Given the description of an element on the screen output the (x, y) to click on. 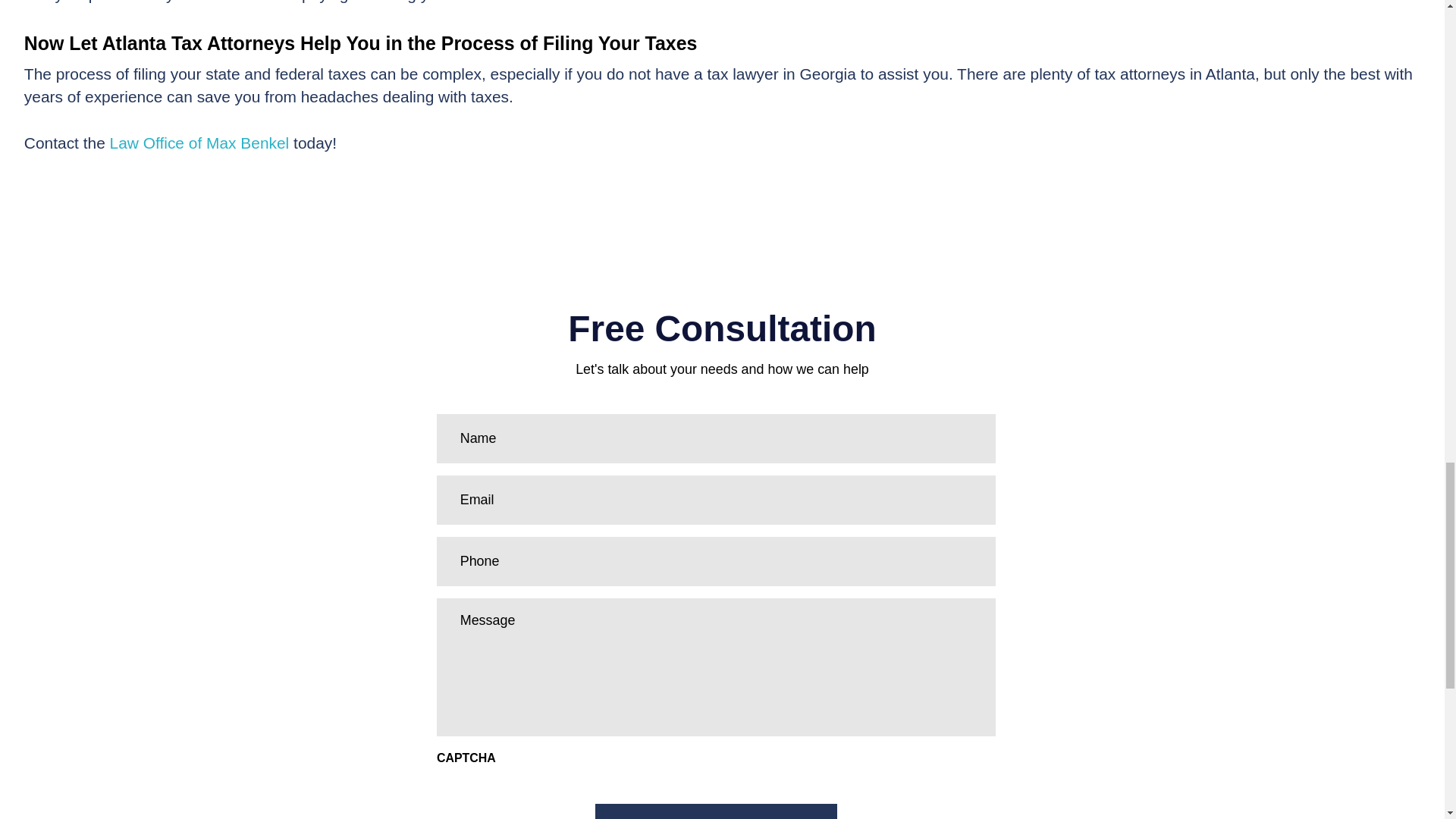
SUBMIT (716, 811)
Law Office of Max Benkel (199, 142)
SUBMIT (716, 811)
